Given the description of an element on the screen output the (x, y) to click on. 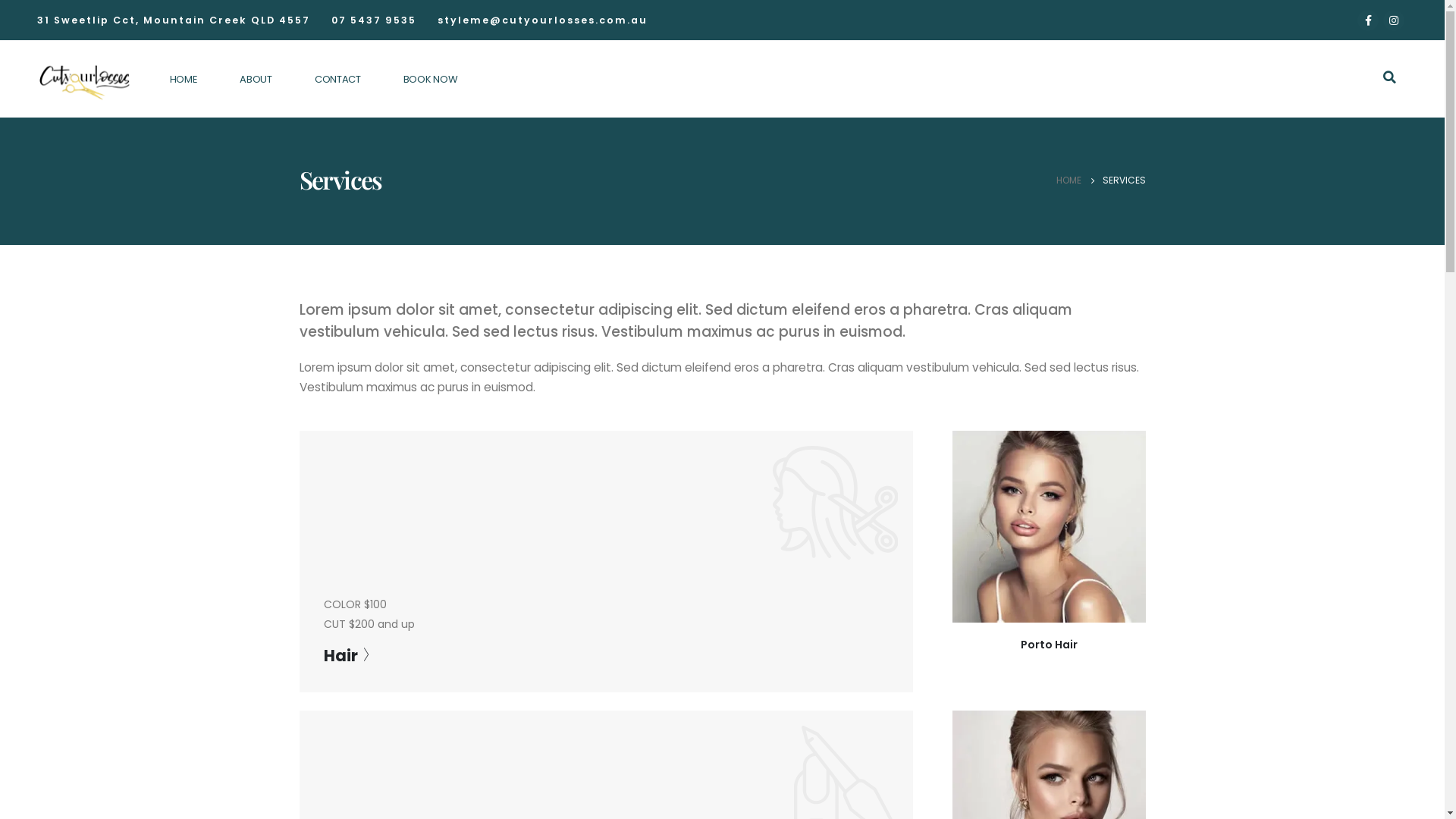
Instagram Element type: hover (1393, 20)
ABOUT Element type: text (255, 79)
CONTACT Element type: text (337, 79)
Cut Your Losses - Hair and Beauty Salon Mountain Creek Element type: hover (82, 79)
Porto Hair Element type: text (1048, 644)
Facebook Element type: hover (1367, 20)
styleme@cutyourlosses.com.au Element type: text (541, 19)
BOOK NOW Element type: text (430, 79)
HOME Element type: text (1067, 180)
07 5437 9535 Element type: text (372, 19)
Hair Element type: text (345, 655)
HOME Element type: text (183, 79)
